Given the description of an element on the screen output the (x, y) to click on. 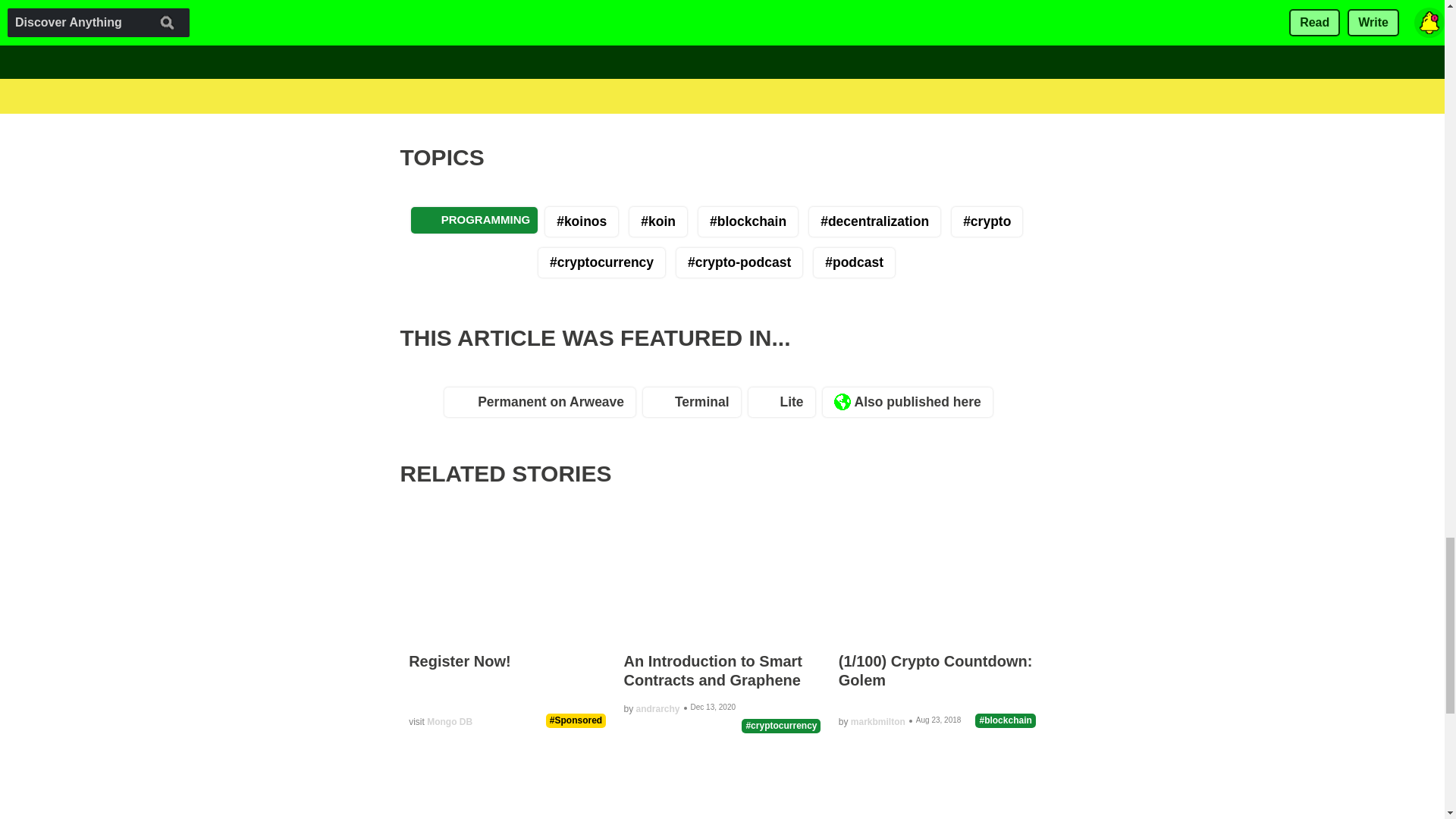
PROGRAMMING (474, 220)
Read My Stories (584, 68)
Subscribe (725, 4)
Accelerating Decentralization Through Accessibility (795, 68)
